Given the description of an element on the screen output the (x, y) to click on. 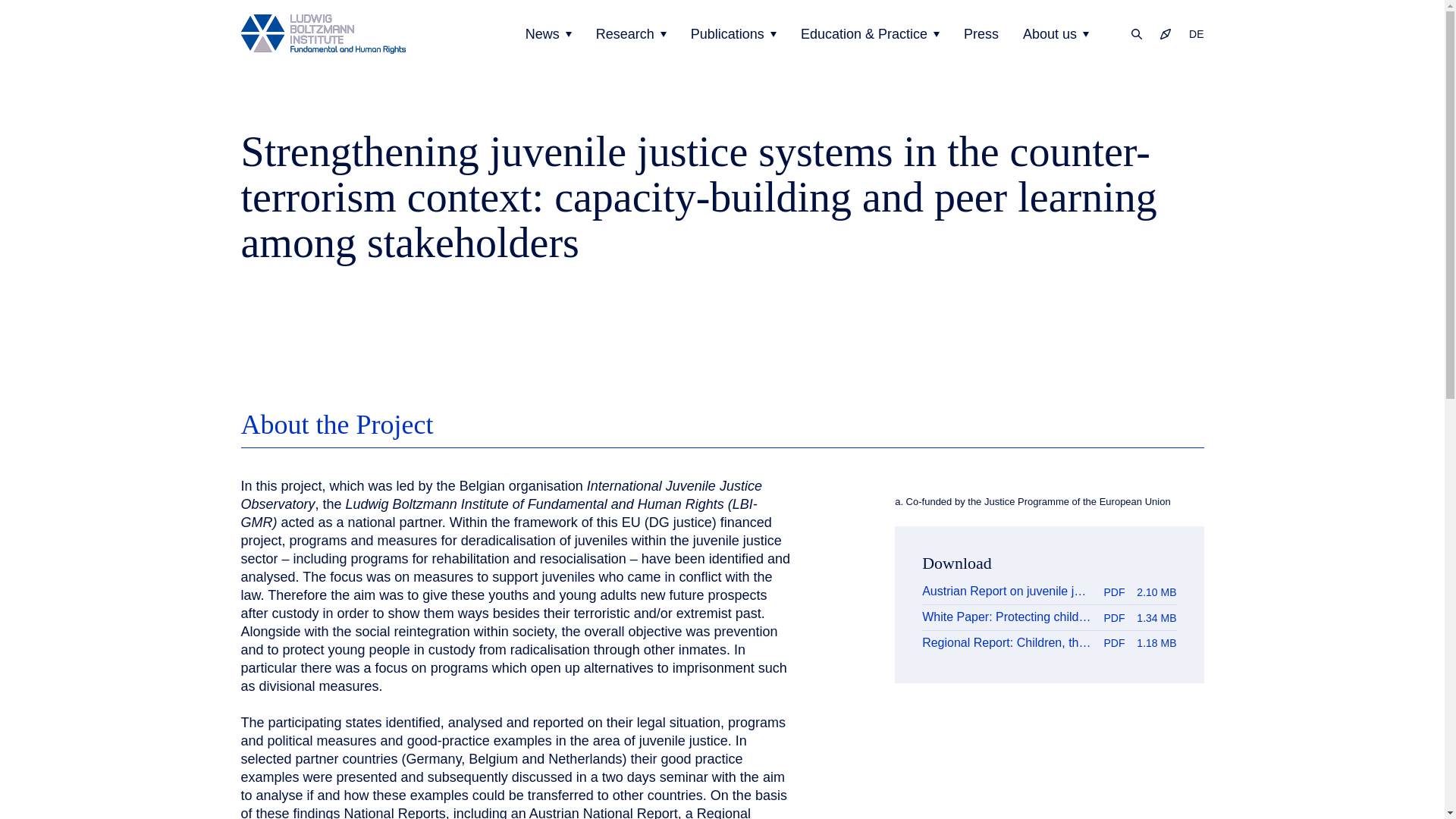
About us (1056, 34)
News (548, 34)
Publications (733, 34)
DE (1191, 33)
Research (630, 34)
Press (980, 34)
